Given the description of an element on the screen output the (x, y) to click on. 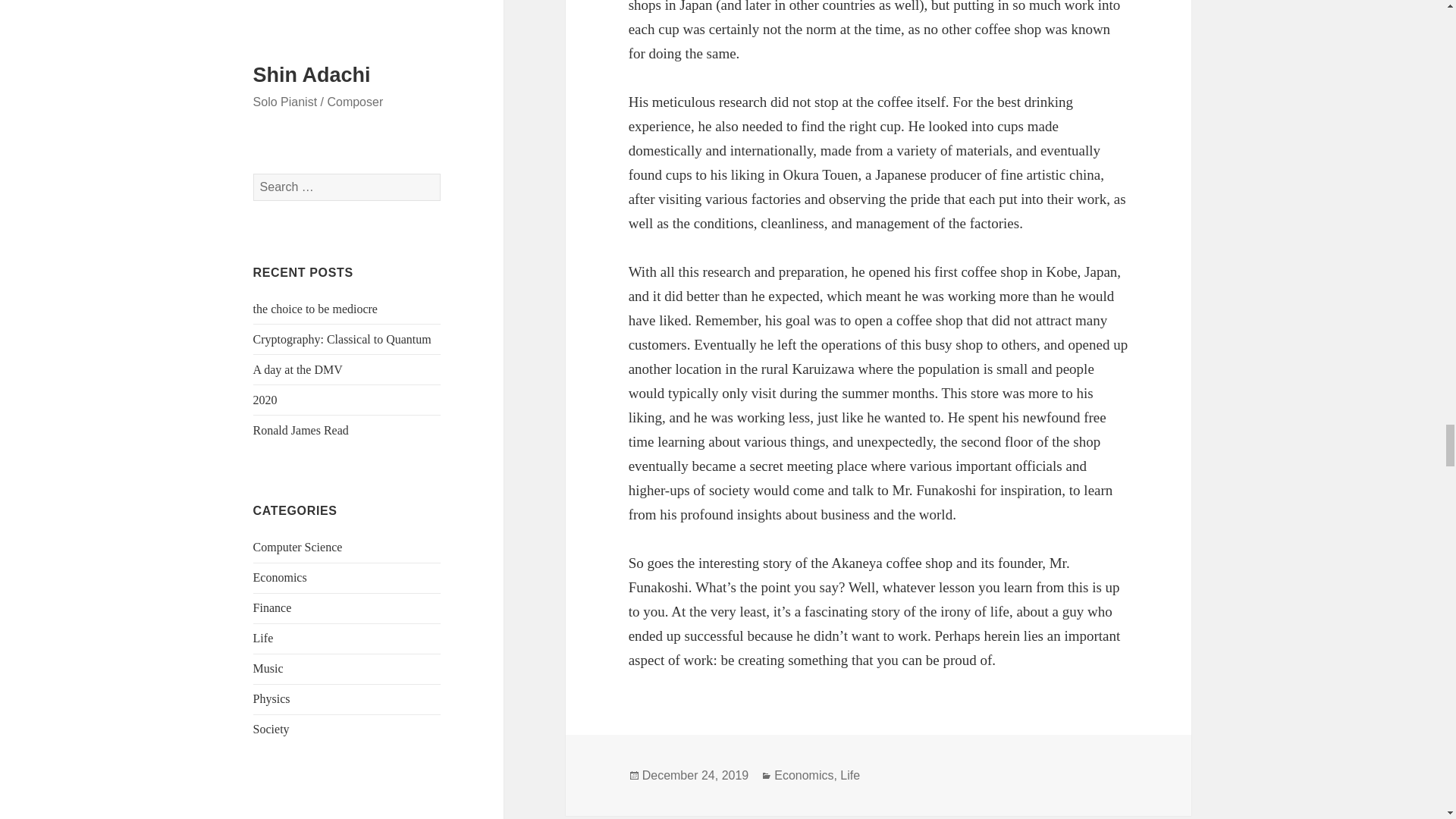
Economics (803, 775)
December 24, 2019 (695, 775)
Life (850, 775)
